Given the description of an element on the screen output the (x, y) to click on. 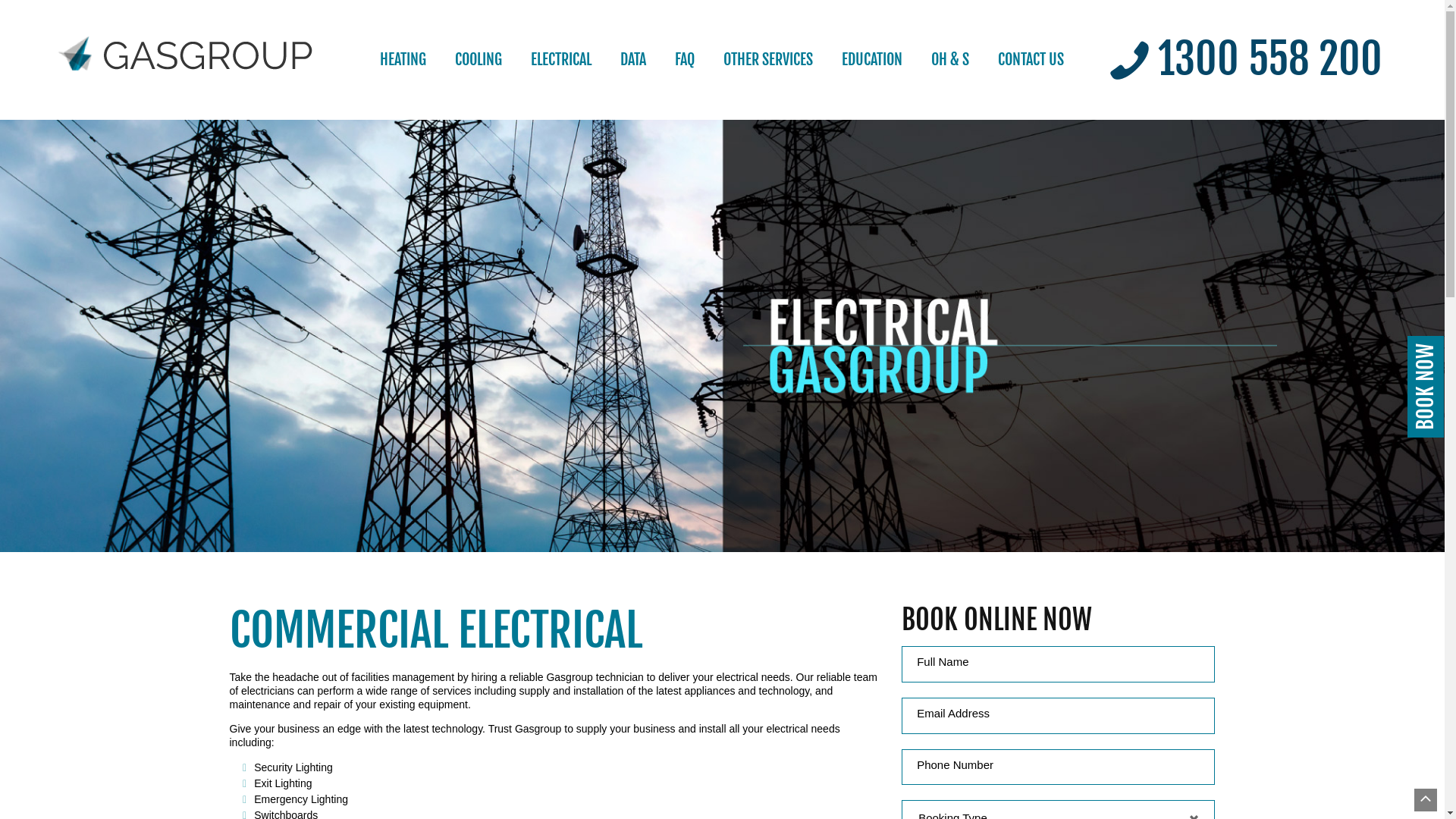
HEATING Element type: text (402, 59)
ELECTRICAL Element type: text (560, 59)
FAQ Element type: text (684, 59)
COOLING Element type: text (478, 59)
1300 558 200 Element type: text (1245, 60)
EDUCATION Element type: text (871, 59)
OH & S Element type: text (949, 59)
DATA Element type: text (632, 59)
CONTACT US Element type: text (1030, 59)
OTHER SERVICES Element type: text (768, 59)
